Given the description of an element on the screen output the (x, y) to click on. 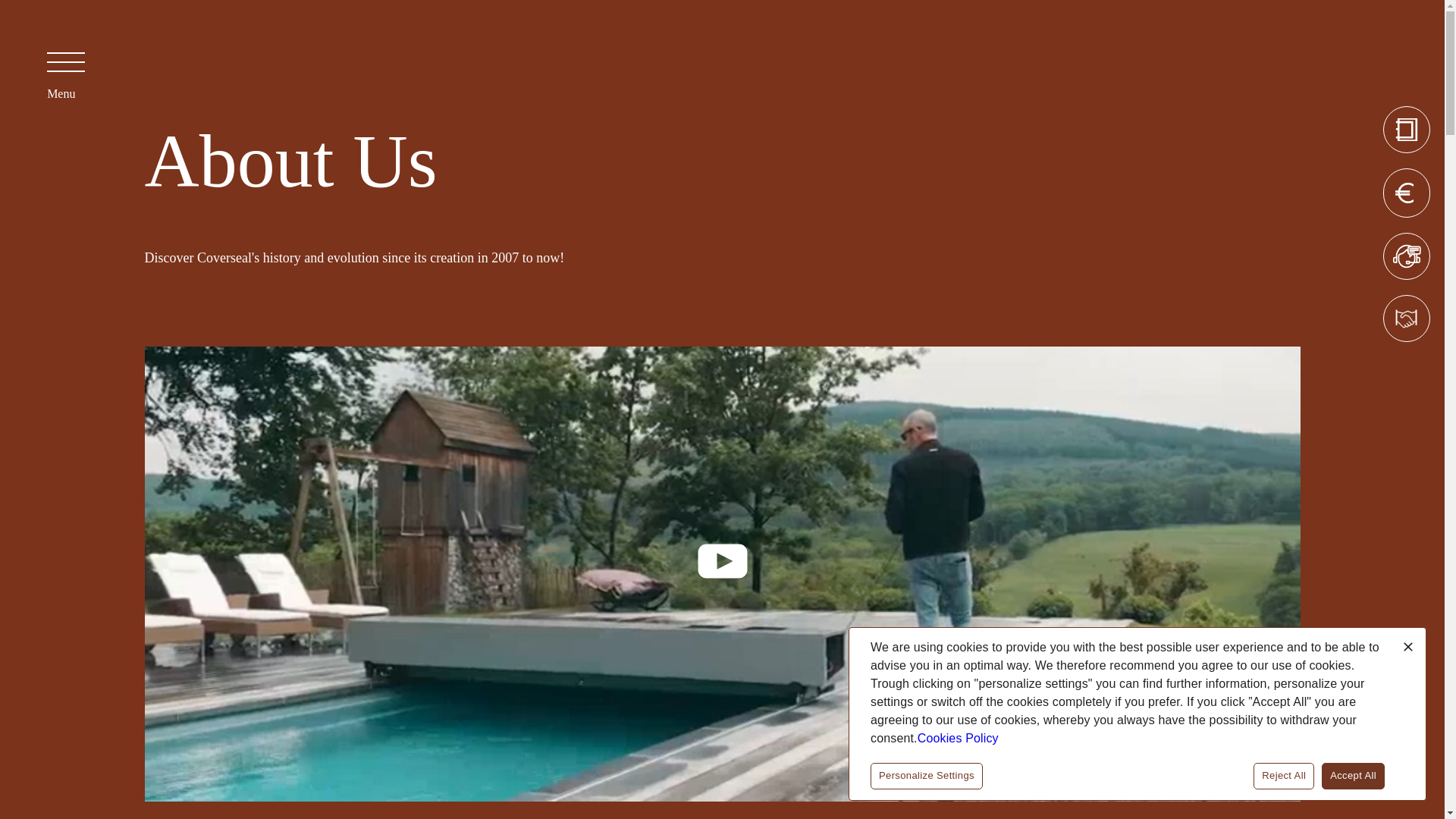
Accept All (1353, 775)
Close (1407, 646)
CATALOG (1406, 129)
Cookies Policy (957, 738)
Reject All (1283, 775)
QUOTE (1406, 192)
AFTER SALES SERVICES (1406, 256)
BECOME A DEALER (1406, 318)
Personalize Settings (926, 775)
